Given the description of an element on the screen output the (x, y) to click on. 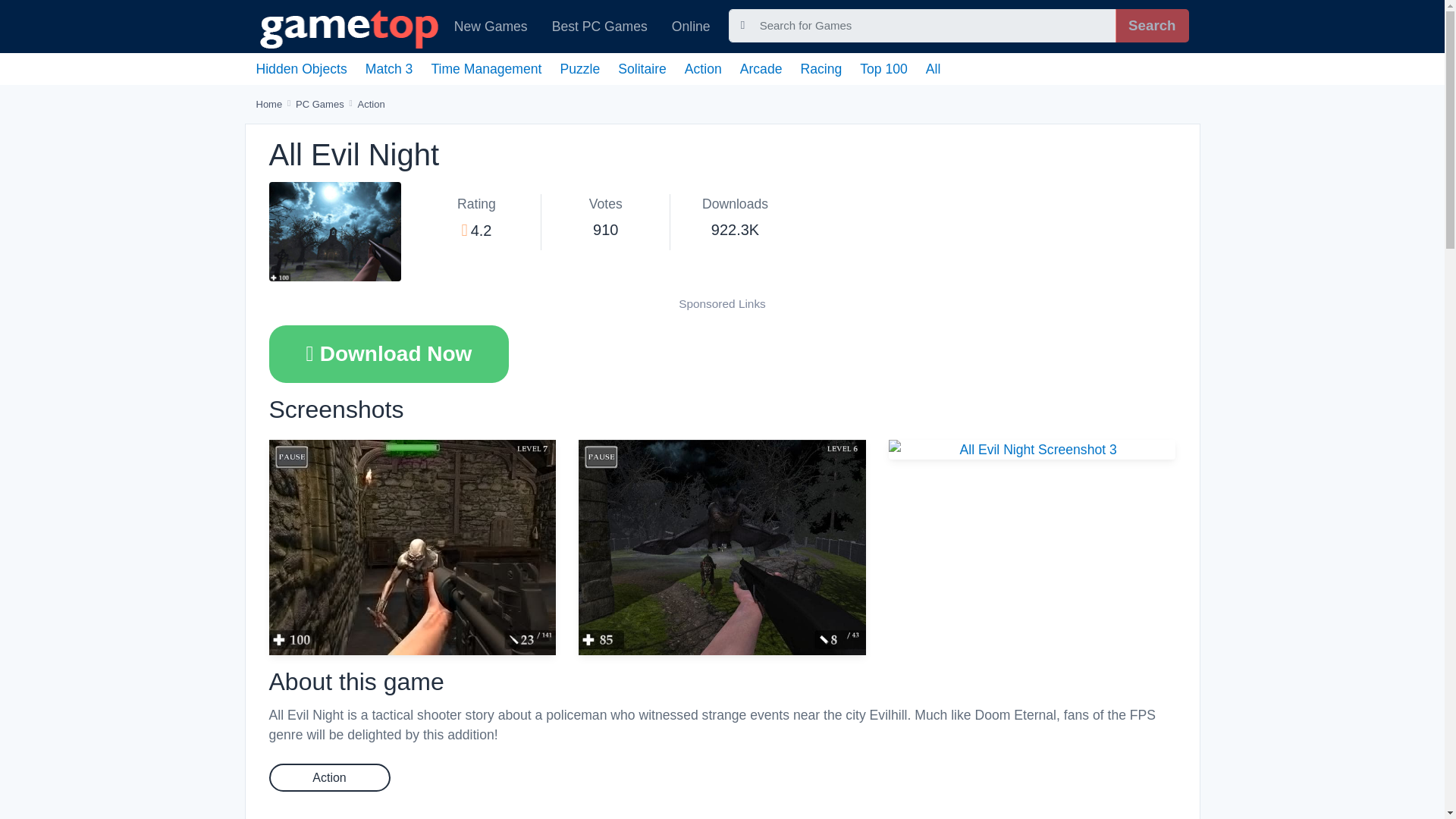
Action (703, 68)
Search (1151, 26)
Arcade (761, 68)
Download Now (387, 354)
All Evil Night (333, 231)
Solitaire (641, 68)
Action (371, 103)
Best PC Games (599, 26)
Hidden Objects (301, 68)
All Evil Night Screenshot 2 (722, 547)
